Given the description of an element on the screen output the (x, y) to click on. 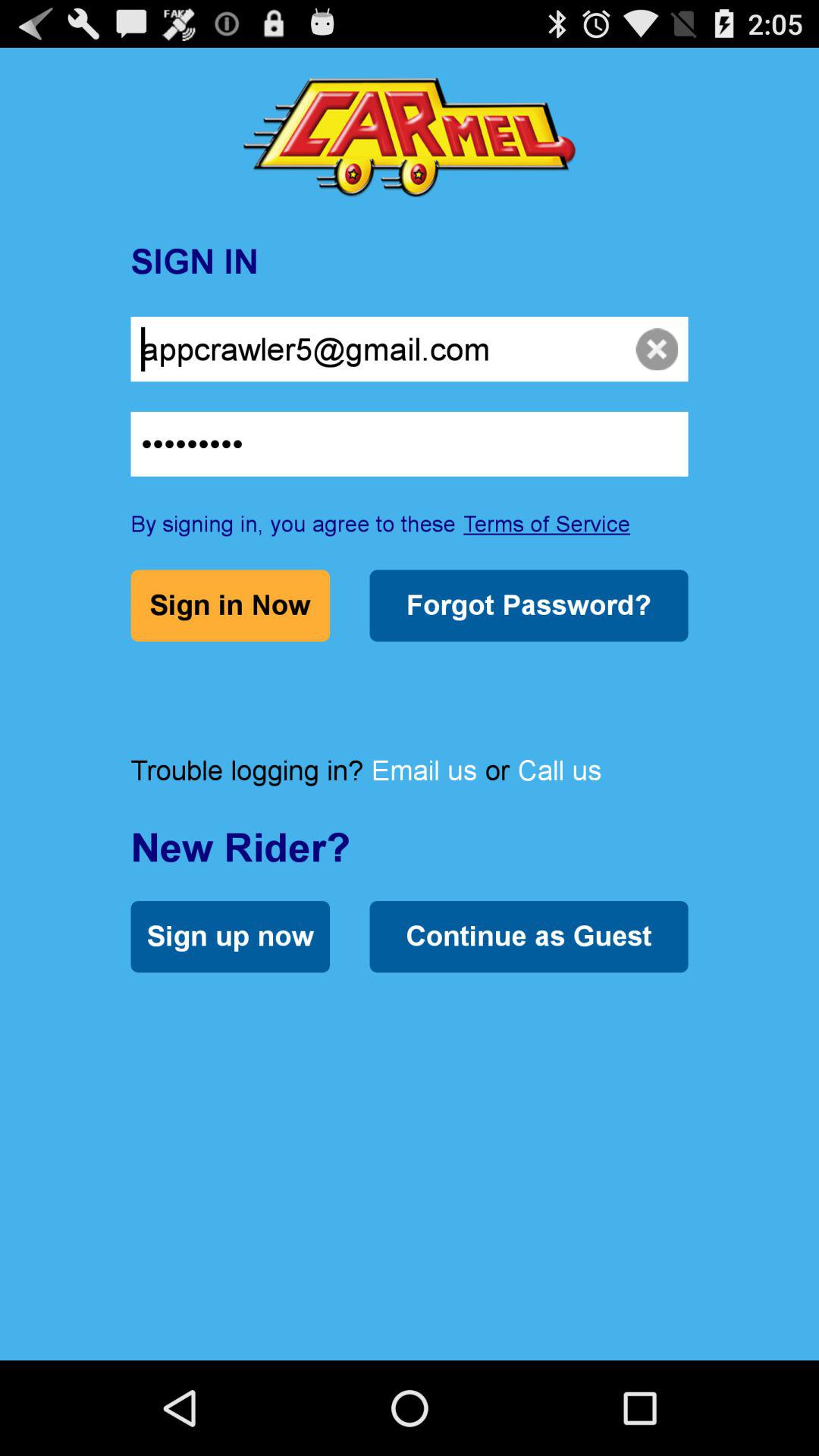
jump to the terms of service item (546, 523)
